Given the description of an element on the screen output the (x, y) to click on. 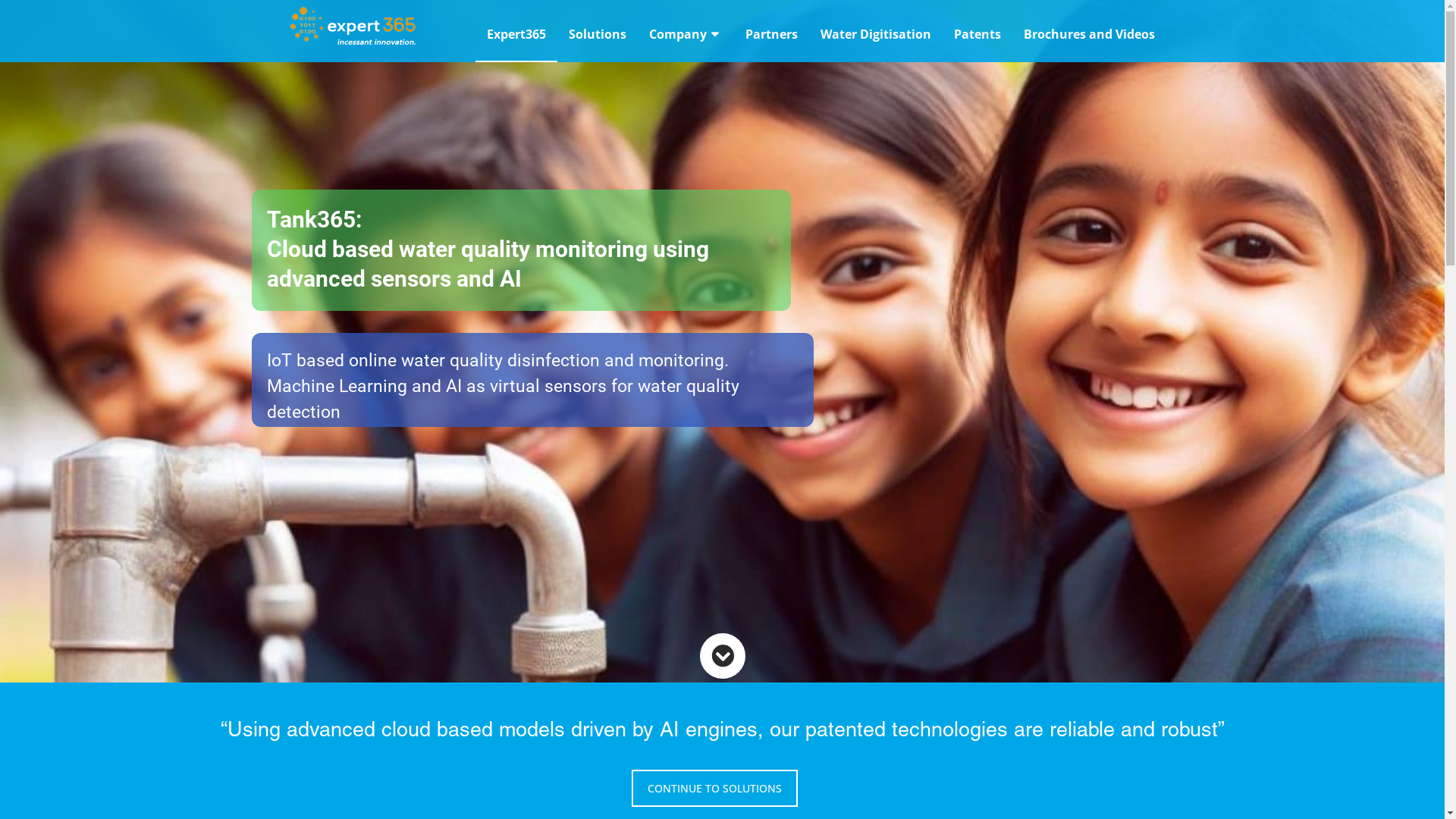
Expert365 Element type: text (515, 33)
Solutions Element type: text (596, 33)
Brochures and Videos Element type: text (1088, 33)
Patents Element type: text (976, 33)
Company Element type: text (685, 33)
Partners Element type: text (771, 33)
Water Digitisation Element type: text (874, 33)
CONTINUE TO SOLUTIONS Element type: text (714, 787)
